Given the description of an element on the screen output the (x, y) to click on. 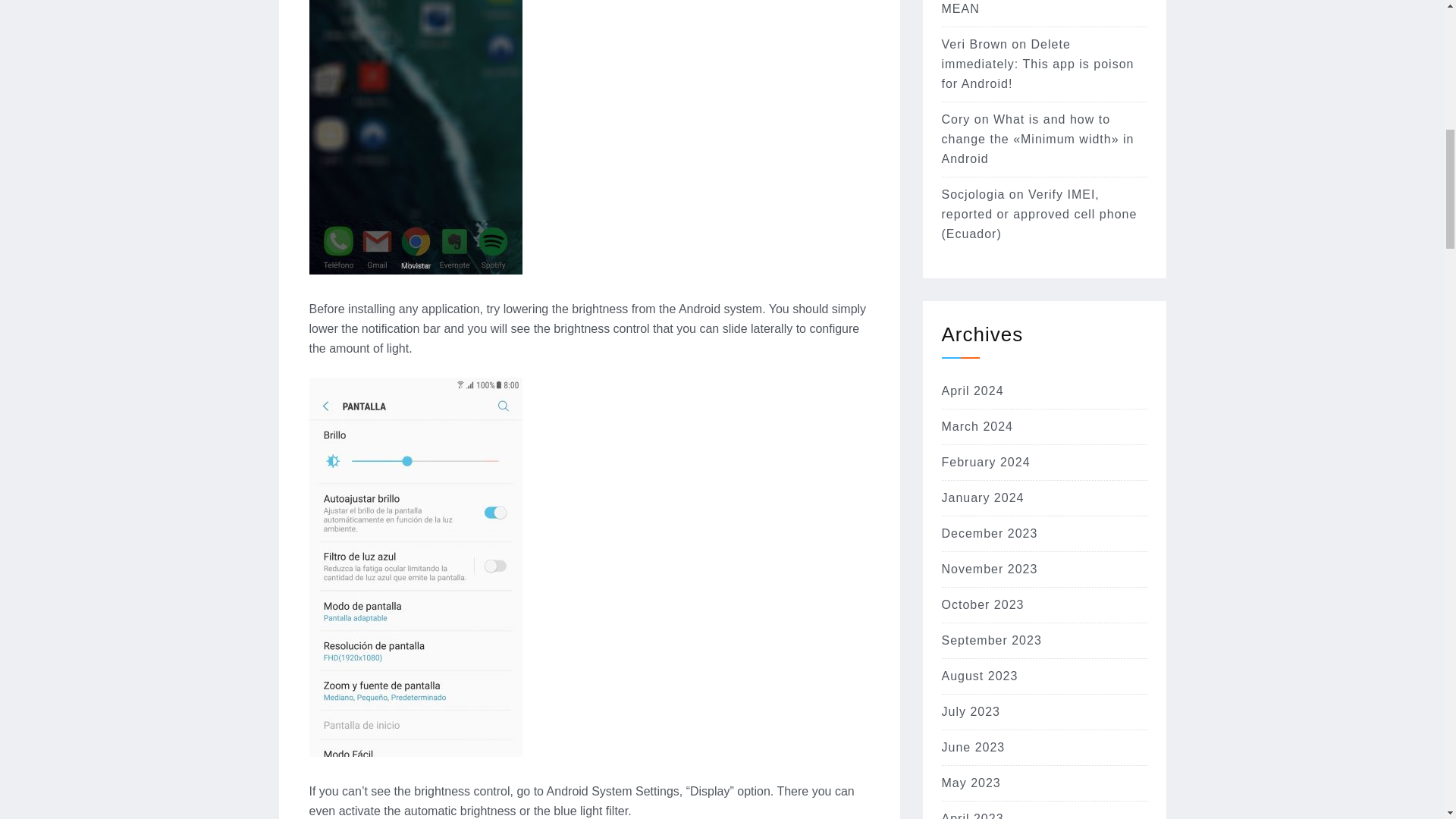
July 2023 (971, 711)
September 2023 (992, 640)
May 2023 (971, 782)
August 2023 (979, 675)
June 2023 (974, 747)
April 2023 (973, 815)
January 2024 (983, 497)
WHAT DOES CALL CANCELED ON TELEGRAM MEAN (1033, 7)
December 2023 (990, 533)
Delete immediately: This app is poison for Android! (1038, 63)
February 2024 (986, 461)
November 2023 (990, 568)
March 2024 (977, 426)
April 2024 (973, 390)
October 2023 (983, 604)
